Given the description of an element on the screen output the (x, y) to click on. 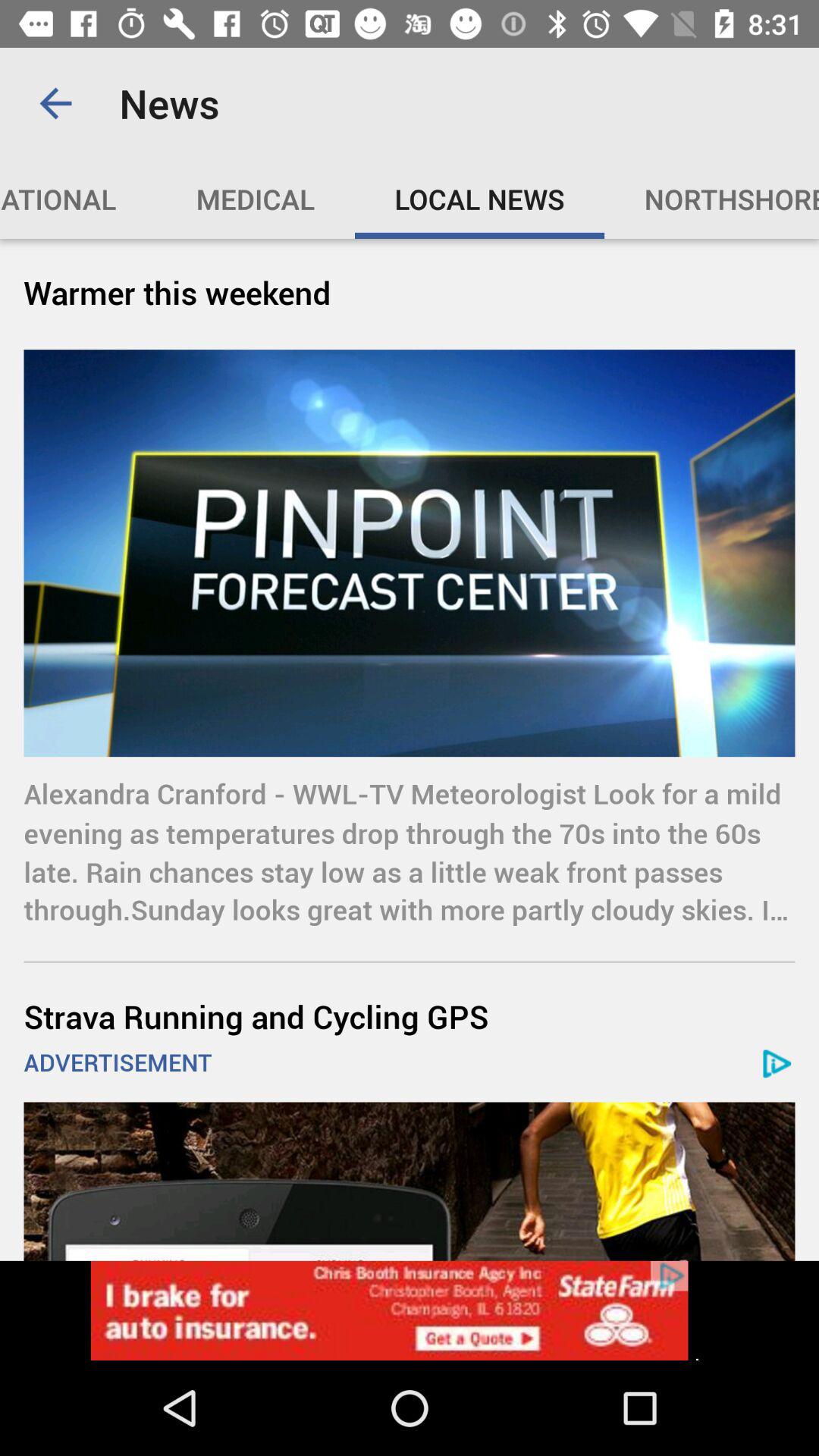
scroll to strava running and icon (409, 1015)
